Given the description of an element on the screen output the (x, y) to click on. 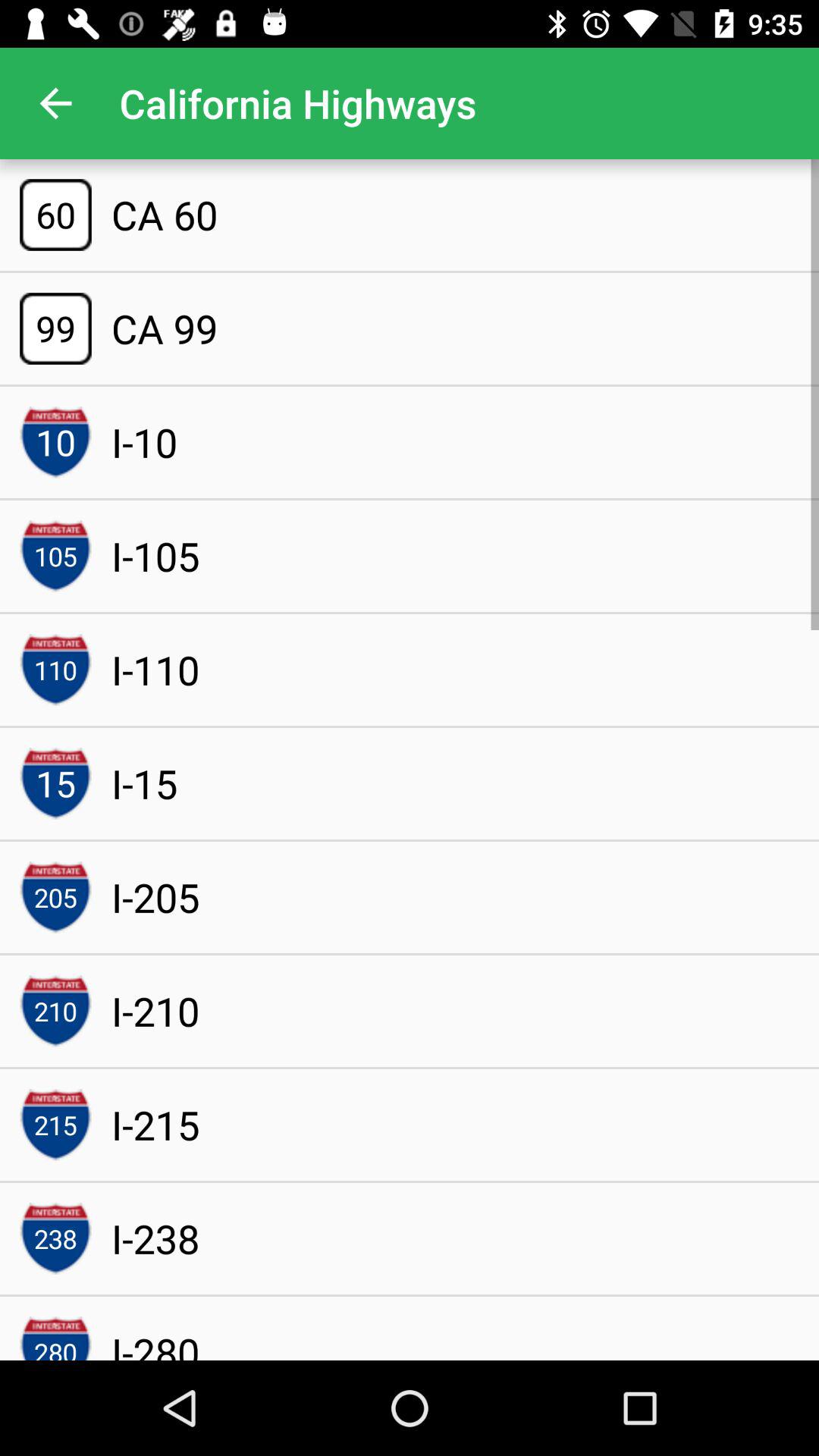
scroll until the ca 60 icon (164, 214)
